Given the description of an element on the screen output the (x, y) to click on. 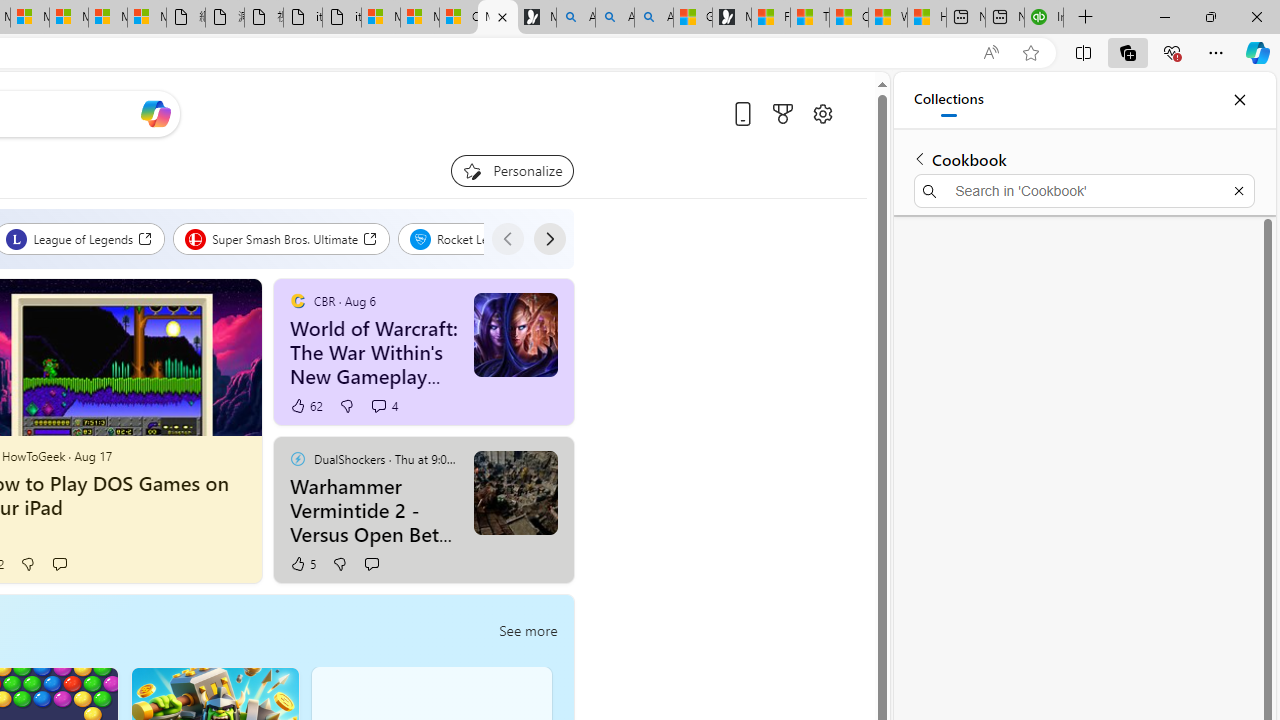
itconcepthk.com/projector_solutions.mp4 (341, 17)
Personalize your feed" (511, 170)
Exit search (1238, 190)
How to Use a TV as a Computer Monitor (926, 17)
Next (548, 238)
Rocket League (472, 238)
62 Like (306, 405)
Back to list of collections (920, 158)
